Given the description of an element on the screen output the (x, y) to click on. 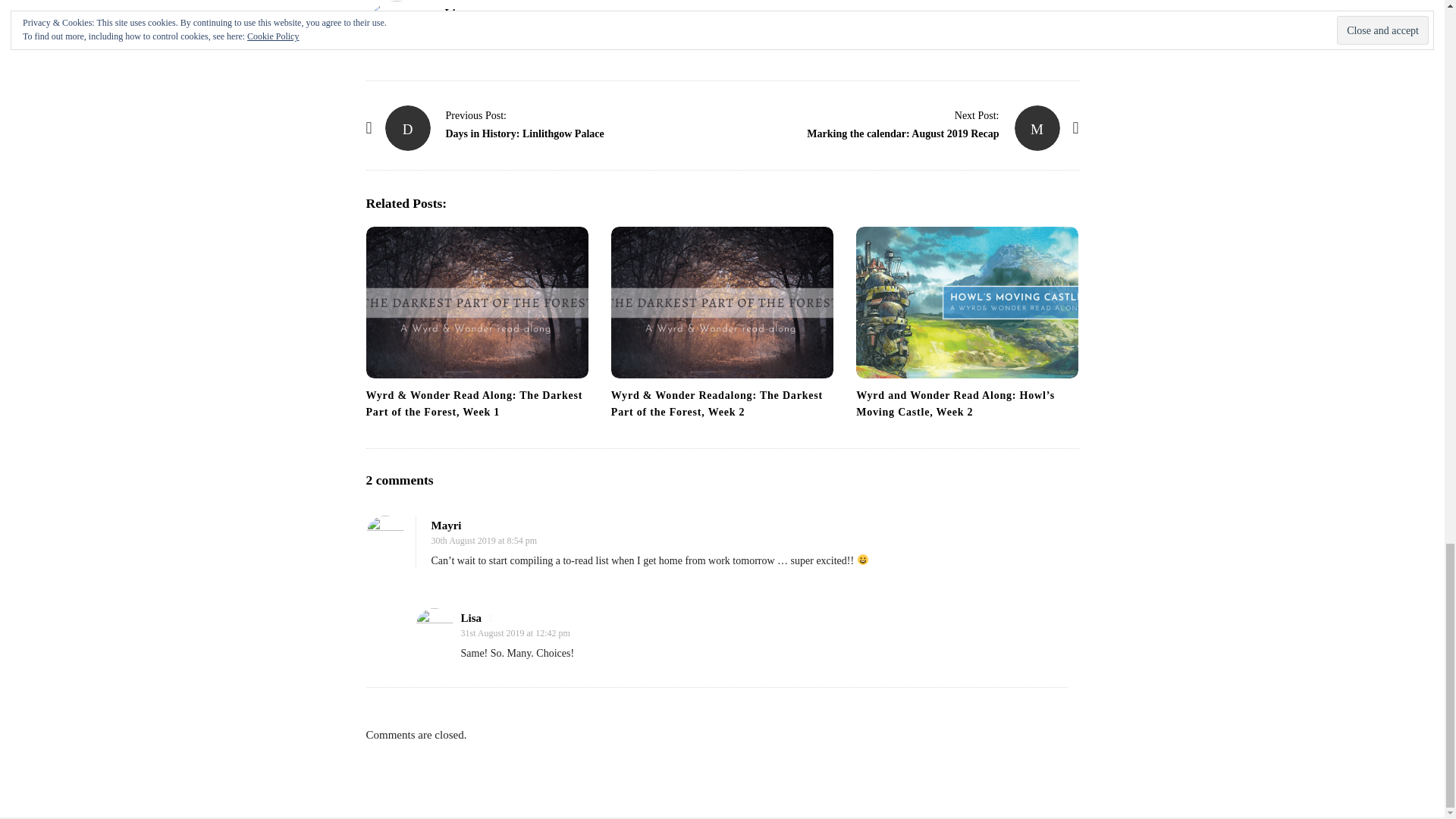
Days in History: Linlithgow Palace (407, 127)
Marking the calendar: August 2019 Recap (976, 114)
Days in History: Linlithgow Palace (475, 114)
Marking the calendar: August 2019 Recap (1036, 127)
